Given the description of an element on the screen output the (x, y) to click on. 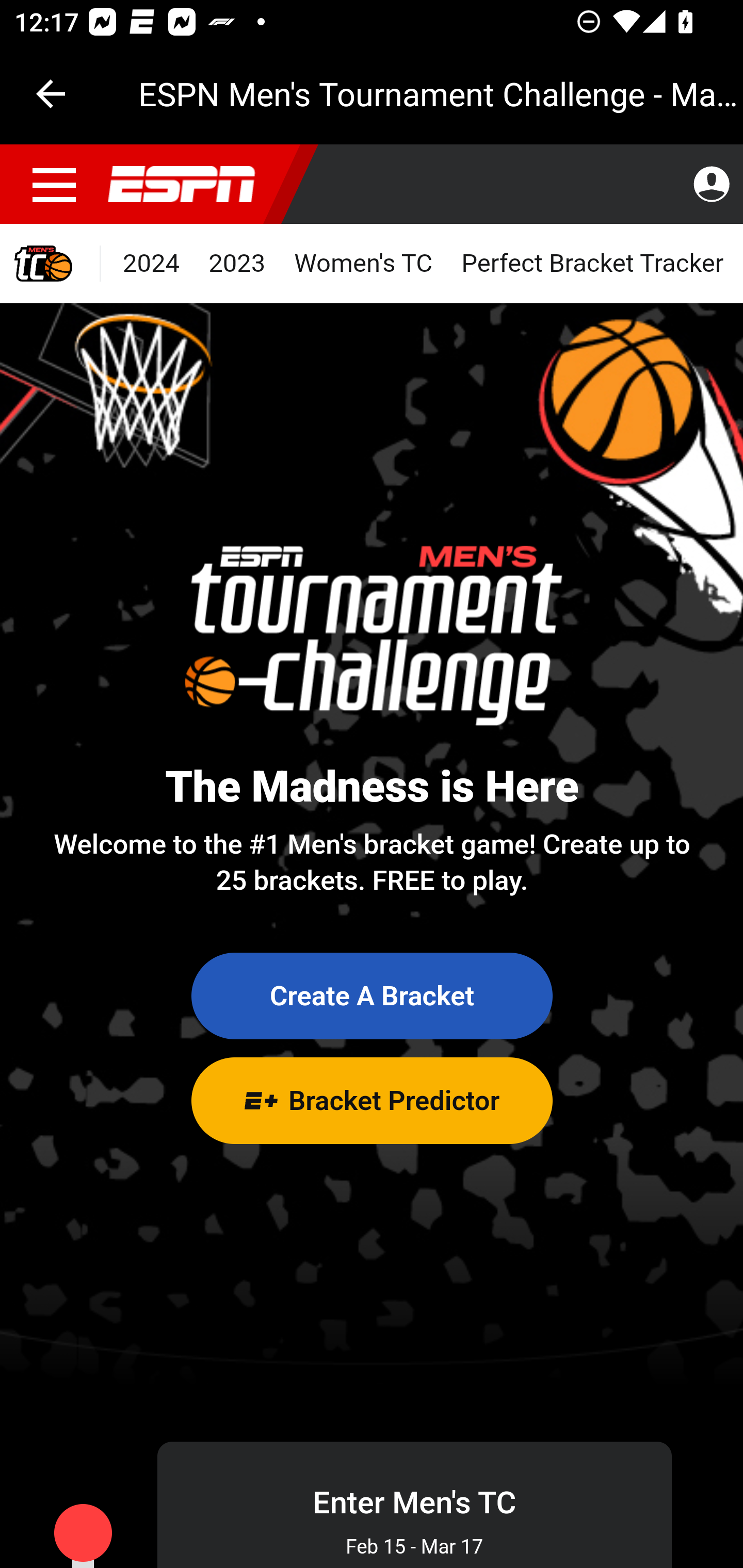
Navigate up (50, 93)
Menu (54, 184)
nav.arialabel.homepage (182, 184)
Profile Management (711, 184)
tournament-challenge-bracket-2024 (51, 264)
2024 (151, 264)
2023 (237, 264)
Women's TC (362, 264)
Perfect Bracket Tracker (591, 264)
Create A Bracket (371, 996)
Bracket Predictor (371, 1099)
